Given the description of an element on the screen output the (x, y) to click on. 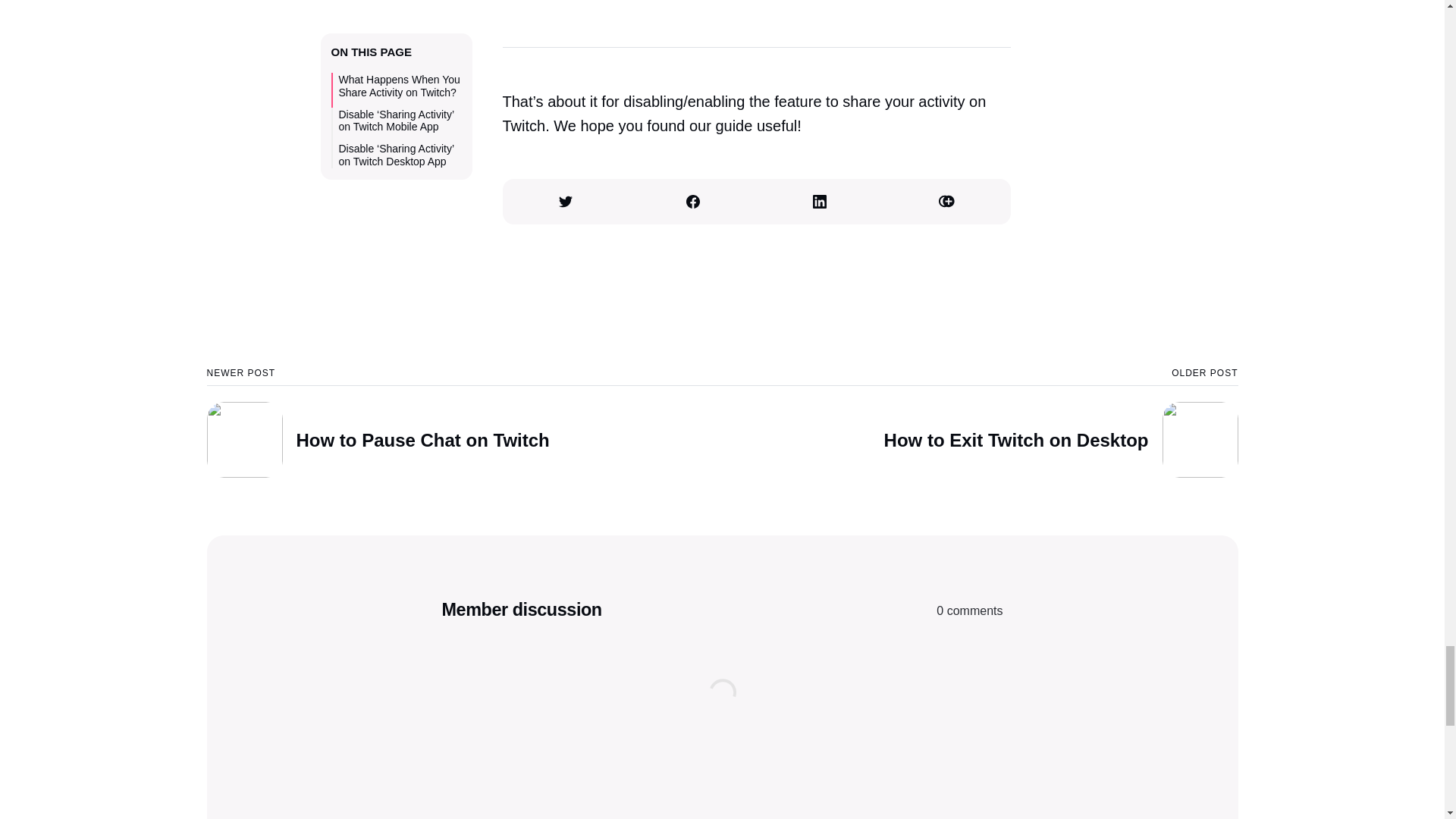
comments-frame (979, 422)
